Given the description of an element on the screen output the (x, y) to click on. 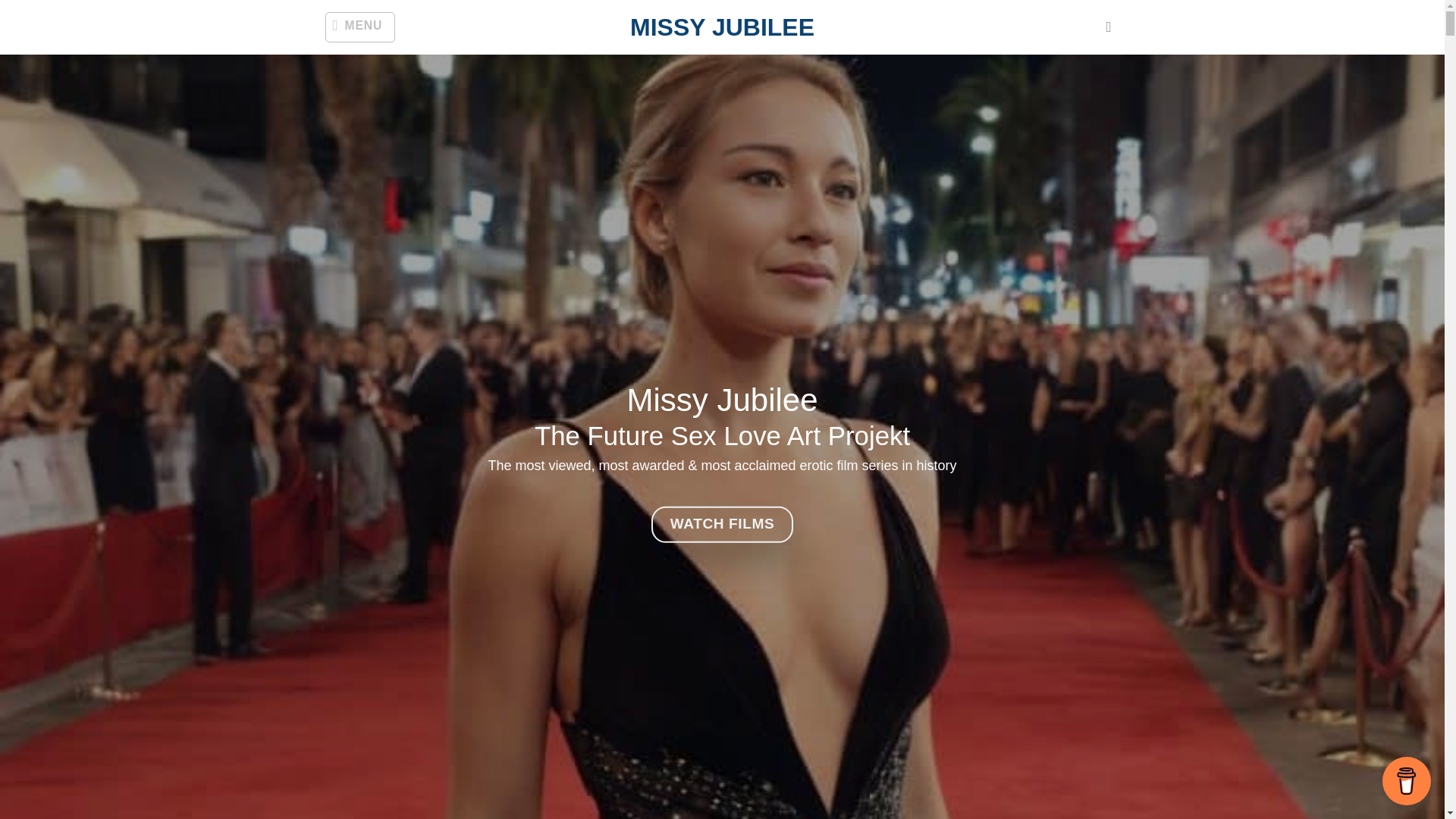
MENU (359, 26)
Missy Jubilee - The Future Sex Love Art Projekt (721, 27)
WATCH FILMS (721, 524)
MISSY JUBILEE (721, 27)
